Given the description of an element on the screen output the (x, y) to click on. 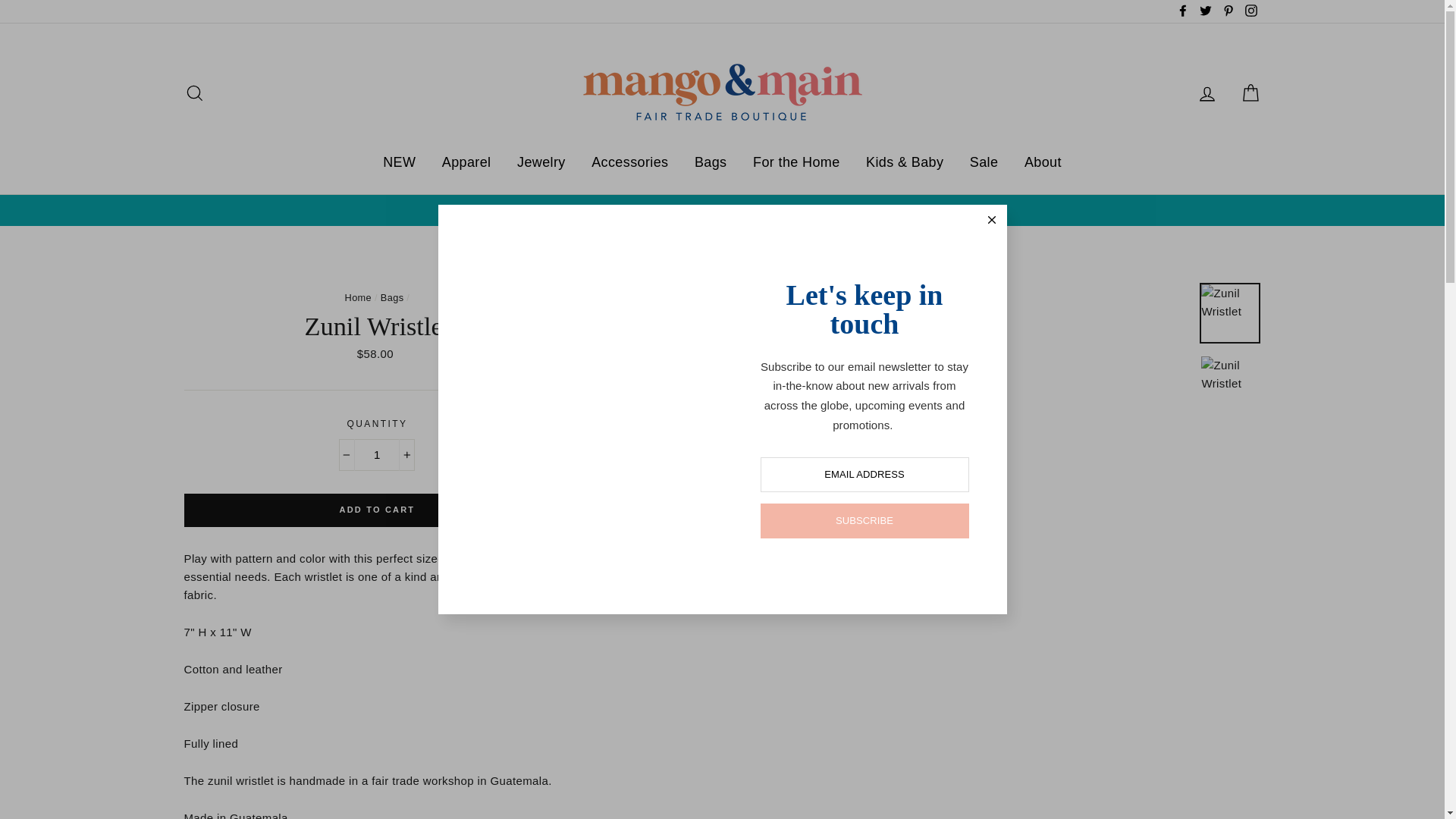
Back to the frontpage (358, 297)
1 (376, 454)
